Given the description of an element on the screen output the (x, y) to click on. 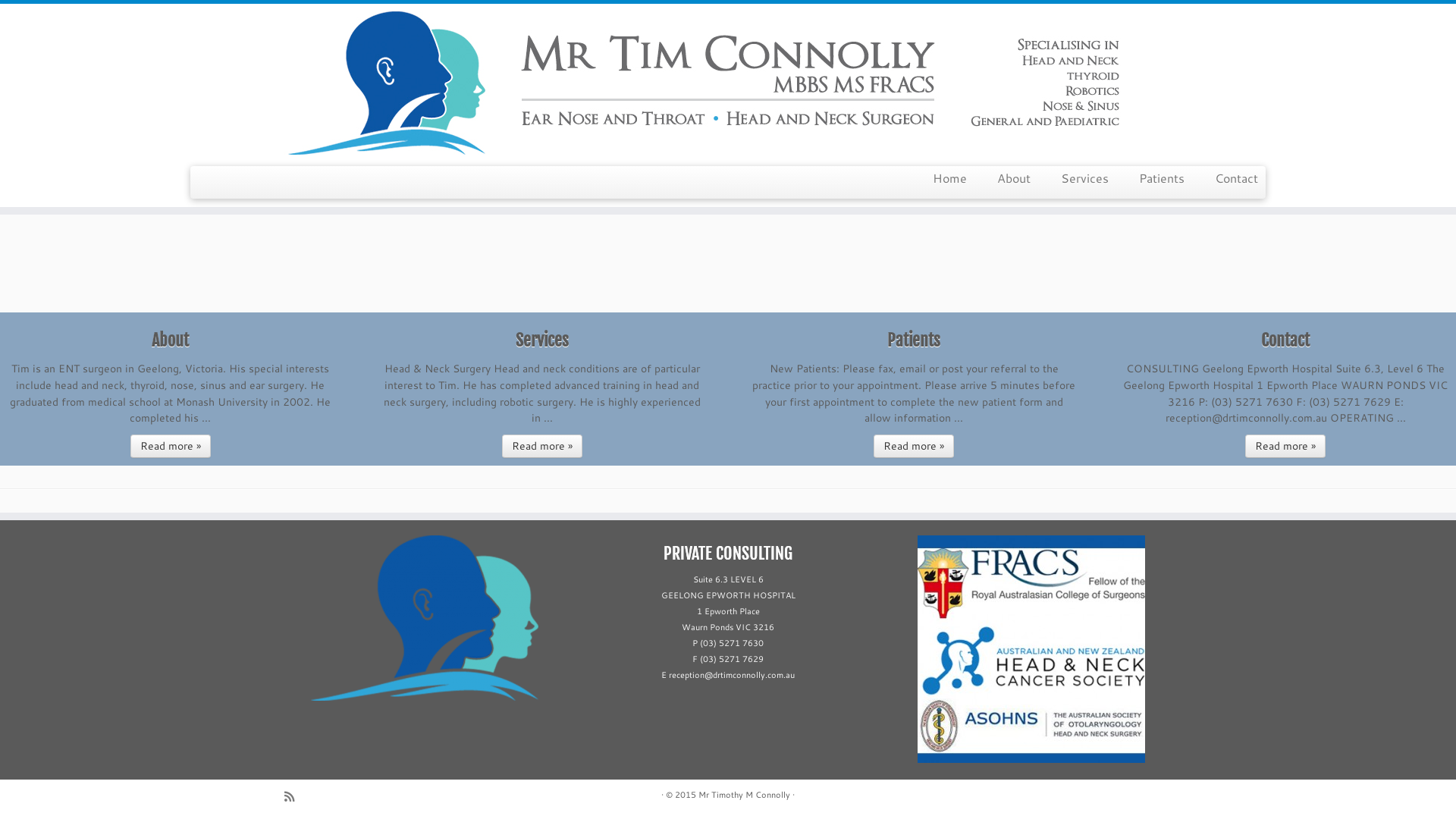
Home Element type: text (949, 177)
About Element type: text (1013, 177)
Subscribe to my rss feed Element type: hover (294, 796)
Services Element type: text (1084, 177)
Patients Element type: text (1161, 177)
Contact Element type: text (1228, 177)
Mr Timothy M Connolly Element type: text (744, 795)
